Given the description of an element on the screen output the (x, y) to click on. 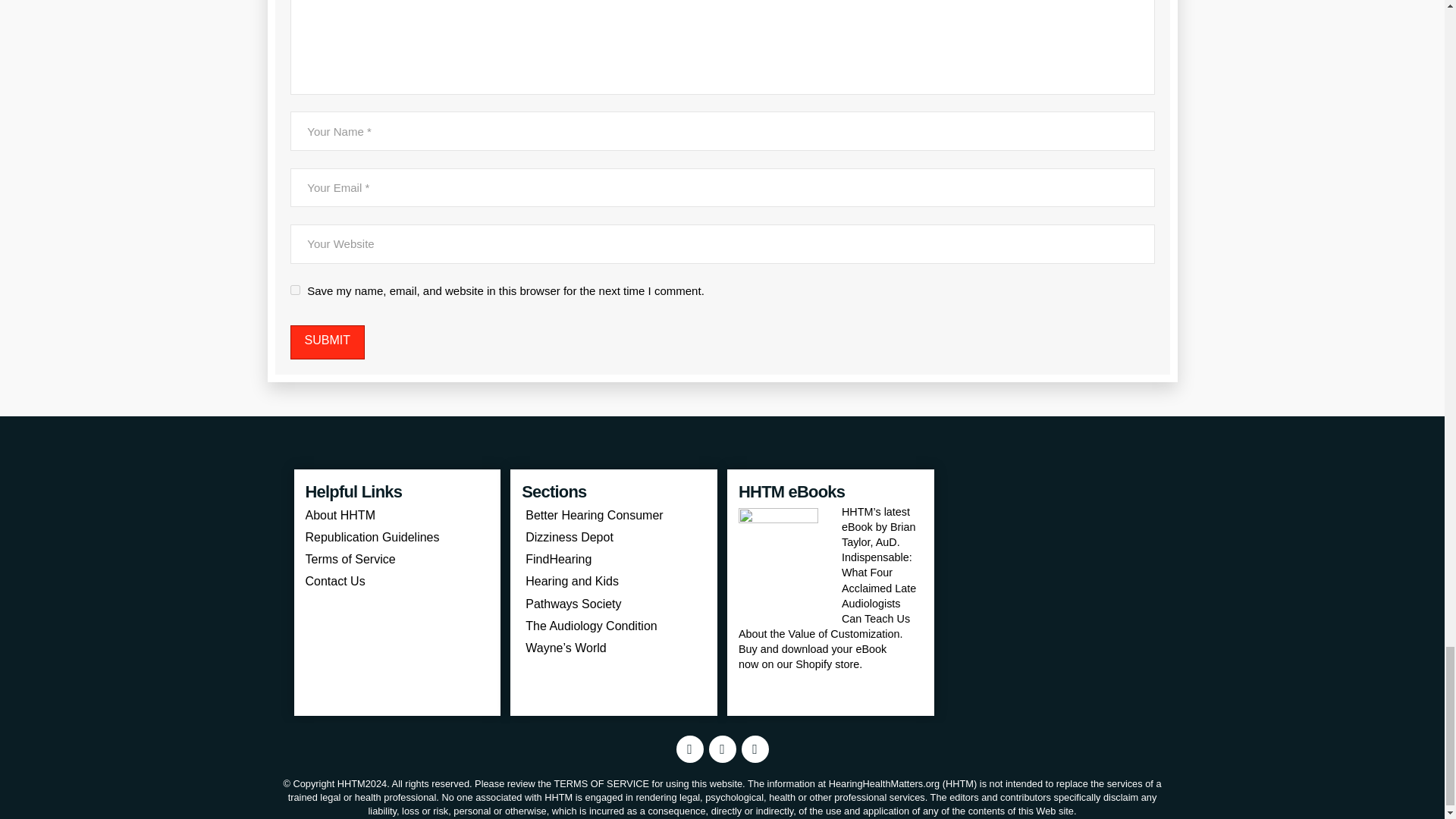
yes (294, 289)
